Given the description of an element on the screen output the (x, y) to click on. 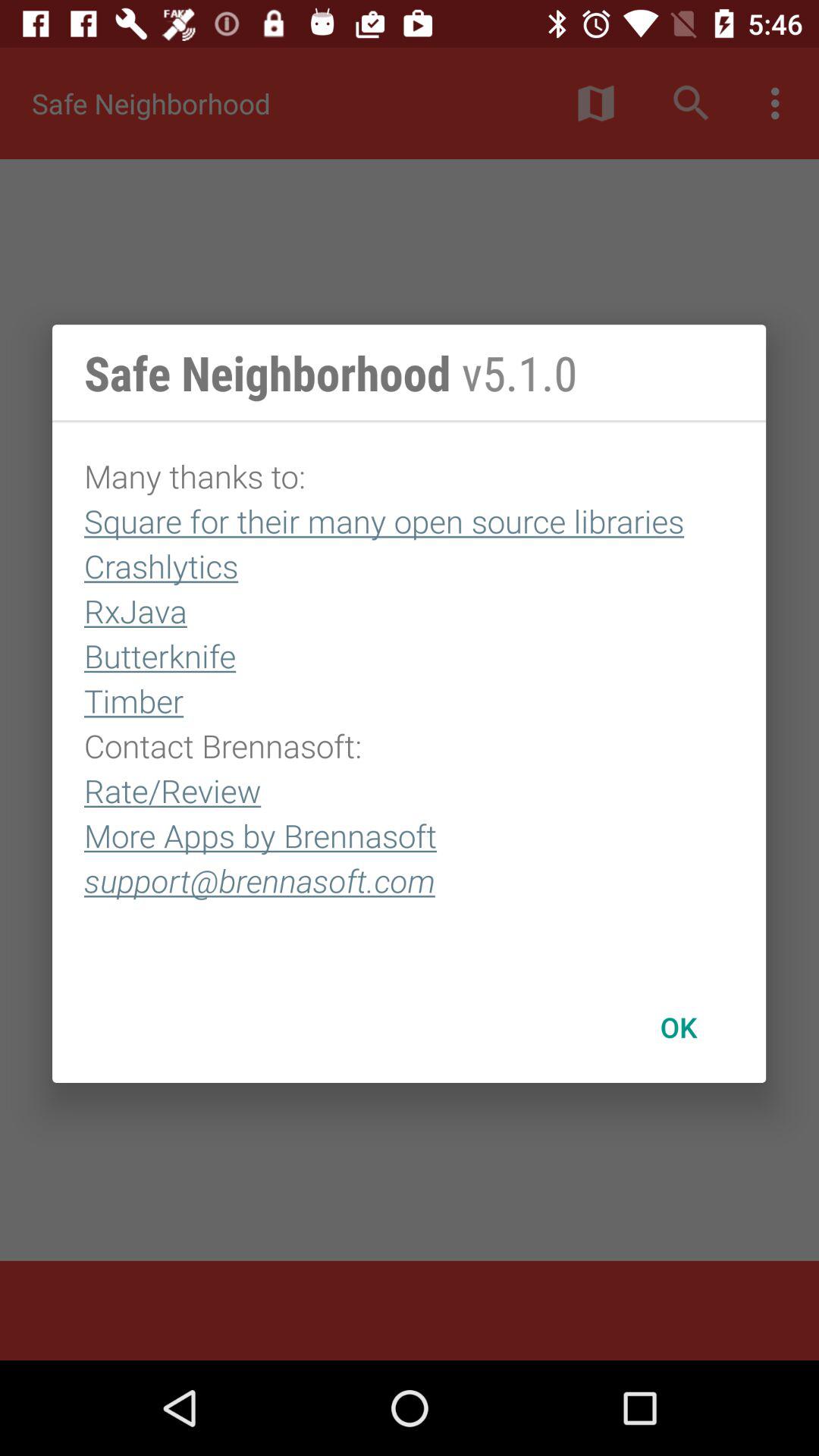
select the icon at the bottom right corner (678, 1026)
